Given the description of an element on the screen output the (x, y) to click on. 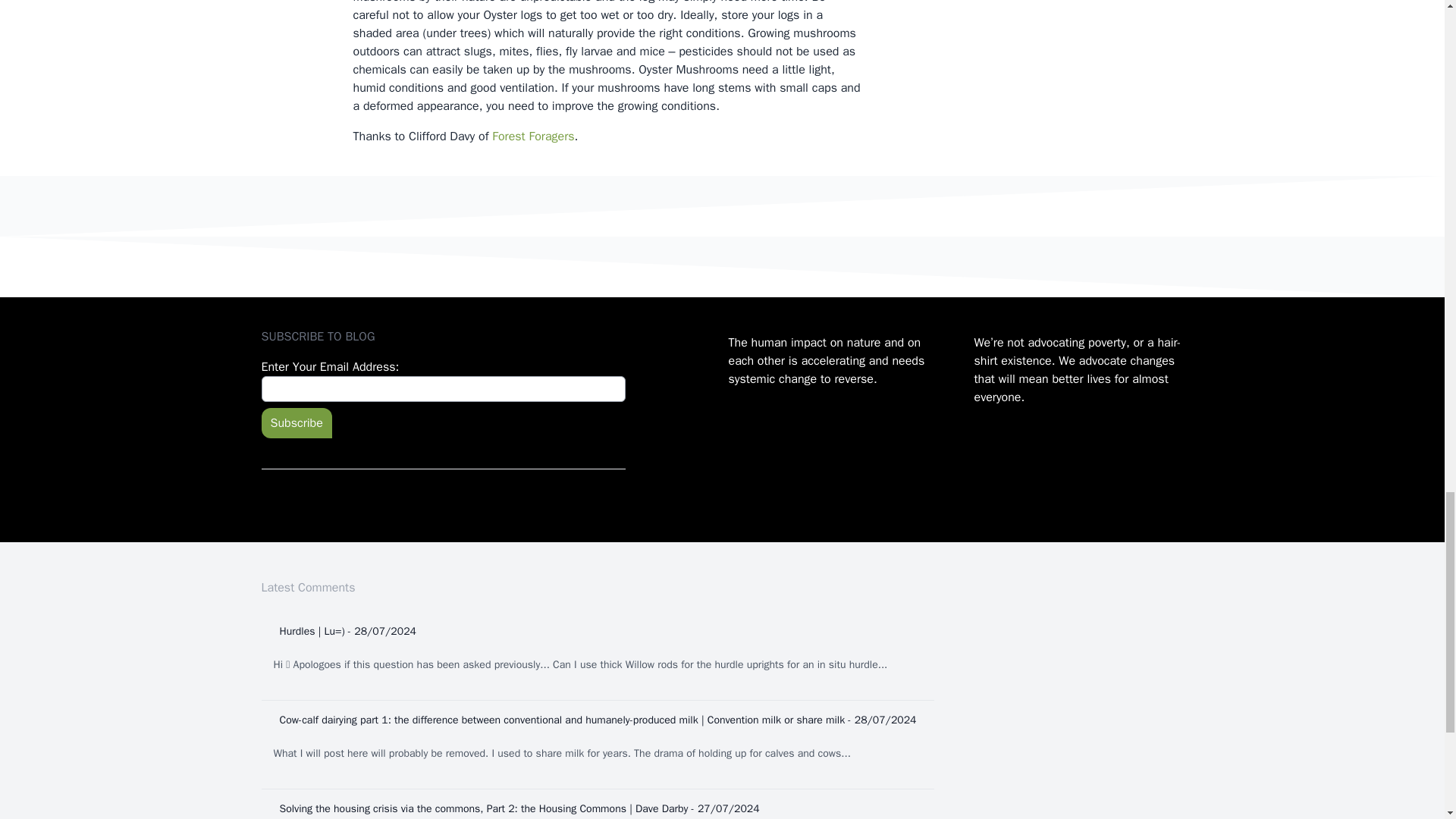
Subscribe (295, 422)
Subscribe (295, 422)
Forest Foragers (532, 136)
